Given the description of an element on the screen output the (x, y) to click on. 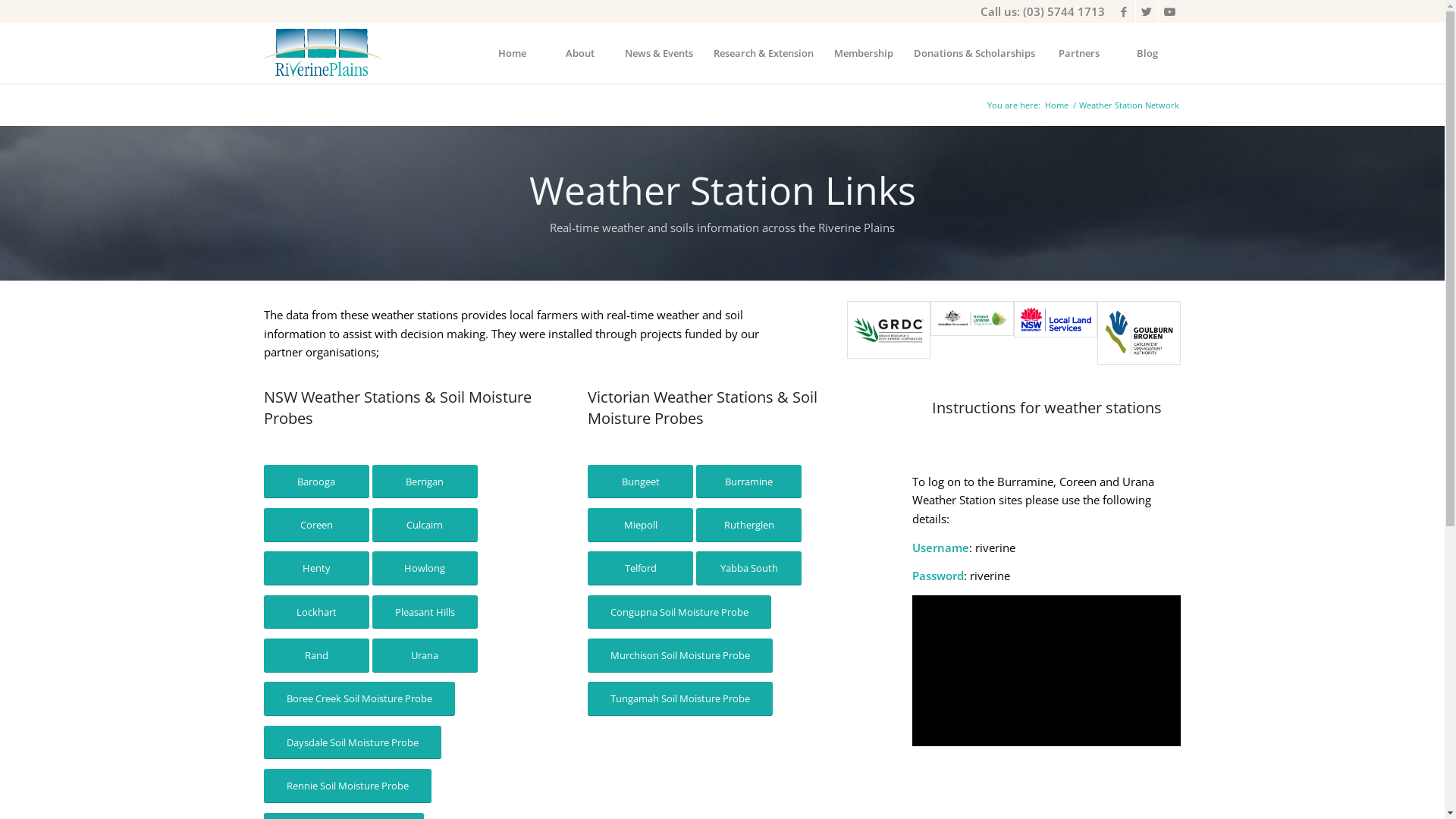
Miepoll Element type: text (640, 525)
LLS logo cmyk Element type: hover (1055, 332)
Bungeet Element type: text (640, 481)
Facebook Element type: hover (1124, 11)
Donations & Scholarships Element type: text (973, 52)
Culcairn Element type: text (423, 525)
Home Element type: text (1055, 104)
News & Events Element type: text (658, 52)
grdc-logo-251x160px Element type: hover (888, 332)
Yabba South Element type: text (748, 568)
Daysdale Soil Moisture Probe Element type: text (352, 742)
Research & Extension Element type: text (762, 52)
nlp-logo Element type: hover (971, 332)
Rand Element type: text (316, 655)
Telford Element type: text (640, 568)
About Element type: text (580, 52)
Henty Element type: text (316, 568)
Boree Creek Soil Moisture Probe Element type: text (359, 698)
Youtube Element type: hover (1169, 11)
GBCMA logo low resolution JPG format Element type: hover (1138, 332)
grdc-logo-251x160px Element type: hover (888, 329)
Murchison Soil Moisture Probe Element type: text (679, 655)
Berrigan Element type: text (423, 481)
Lockhart Element type: text (316, 612)
Membership Element type: text (863, 52)
Blog Element type: text (1147, 52)
Partners Element type: text (1078, 52)
Howlong Element type: text (423, 568)
nlp-logo Element type: hover (971, 318)
LLS logo cmyk Element type: hover (1055, 319)
Twitter Element type: hover (1146, 11)
Rutherglen Element type: text (748, 525)
Tungamah Soil Moisture Probe Element type: text (679, 698)
Coreen Element type: text (316, 525)
Barooga Element type: text (316, 481)
Home Element type: text (511, 52)
Pleasant Hills Element type: text (423, 612)
Urana Element type: text (423, 655)
Burramine Element type: text (748, 481)
Congupna Soil Moisture Probe Element type: text (679, 612)
Rennie Soil Moisture Probe Element type: text (347, 785)
